Given the description of an element on the screen output the (x, y) to click on. 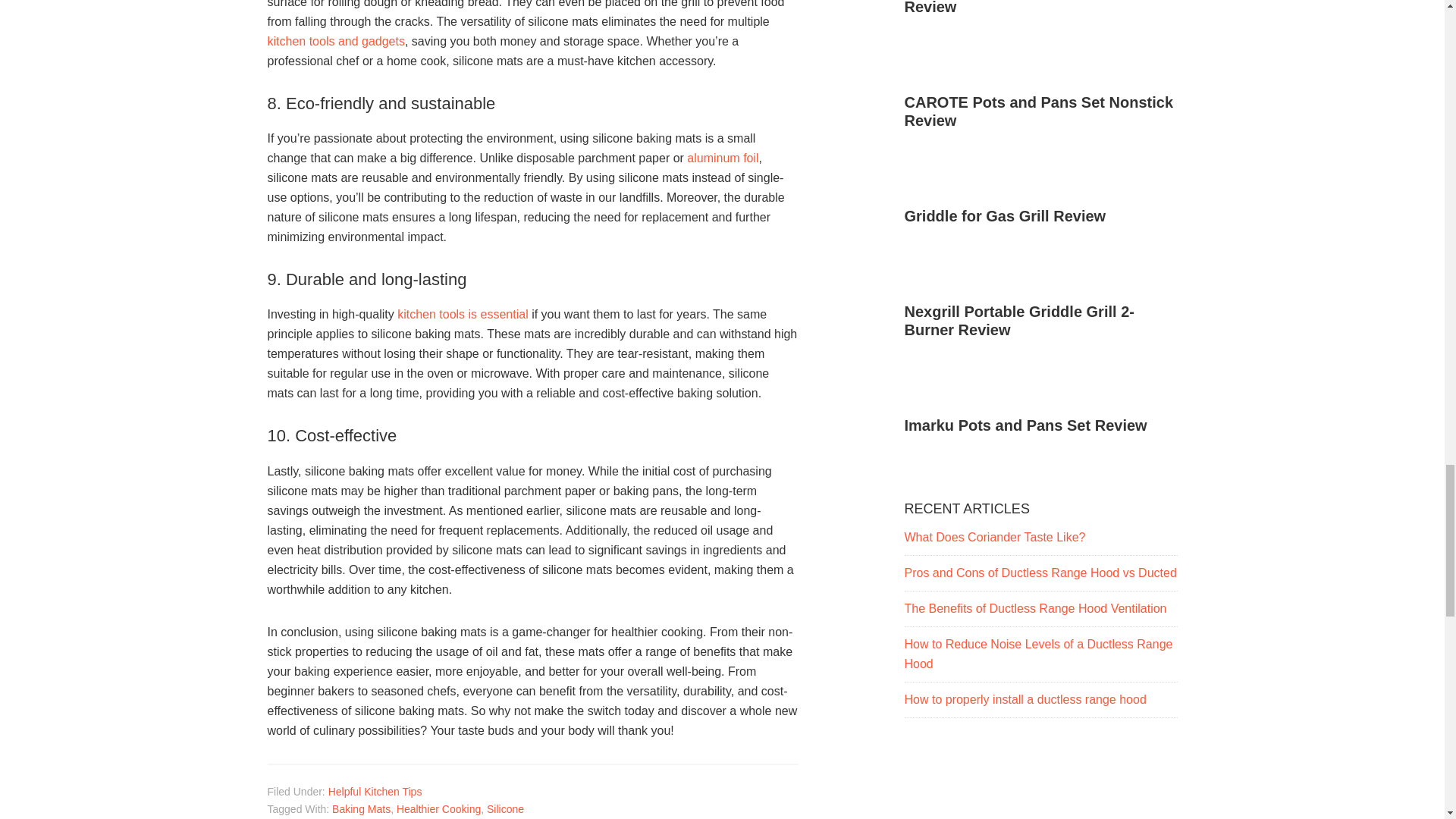
Baking Mats (360, 808)
Helpful Kitchen Tips (375, 791)
kitchen tools is essential (462, 314)
kitchen tools and gadgets (335, 41)
aluminum foil (722, 157)
Healthier Cooking (438, 808)
Silicone (505, 808)
